Given the description of an element on the screen output the (x, y) to click on. 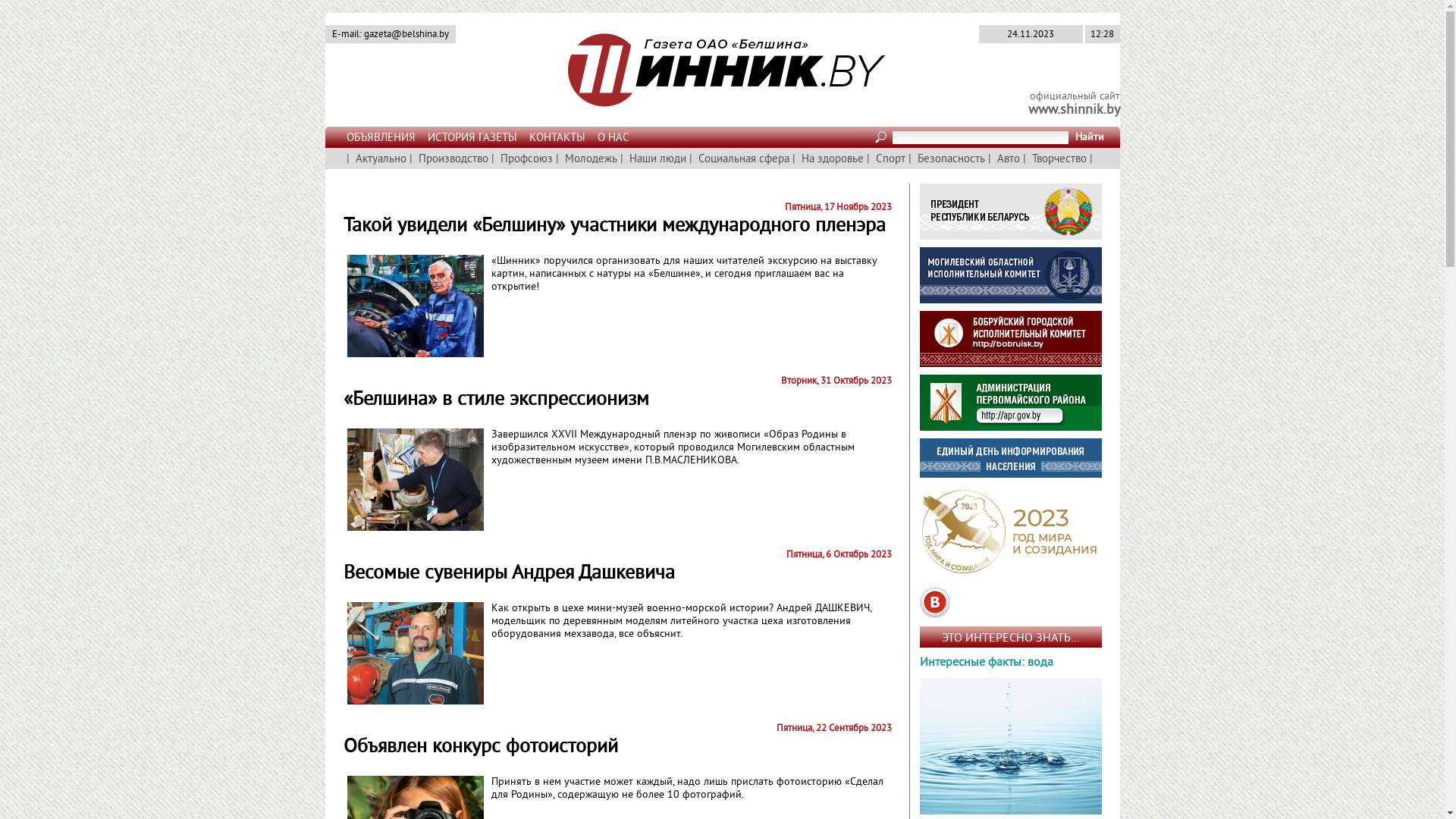
| Element type: text (867, 159)
| Element type: text (492, 159)
| Element type: text (988, 159)
| Element type: text (621, 159)
| Element type: text (410, 159)
| Element type: text (909, 159)
| Element type: text (346, 159)
| Element type: text (1090, 159)
| Element type: text (792, 159)
| Element type: text (556, 159)
| Element type: text (1023, 159)
| Element type: text (689, 159)
